Given the description of an element on the screen output the (x, y) to click on. 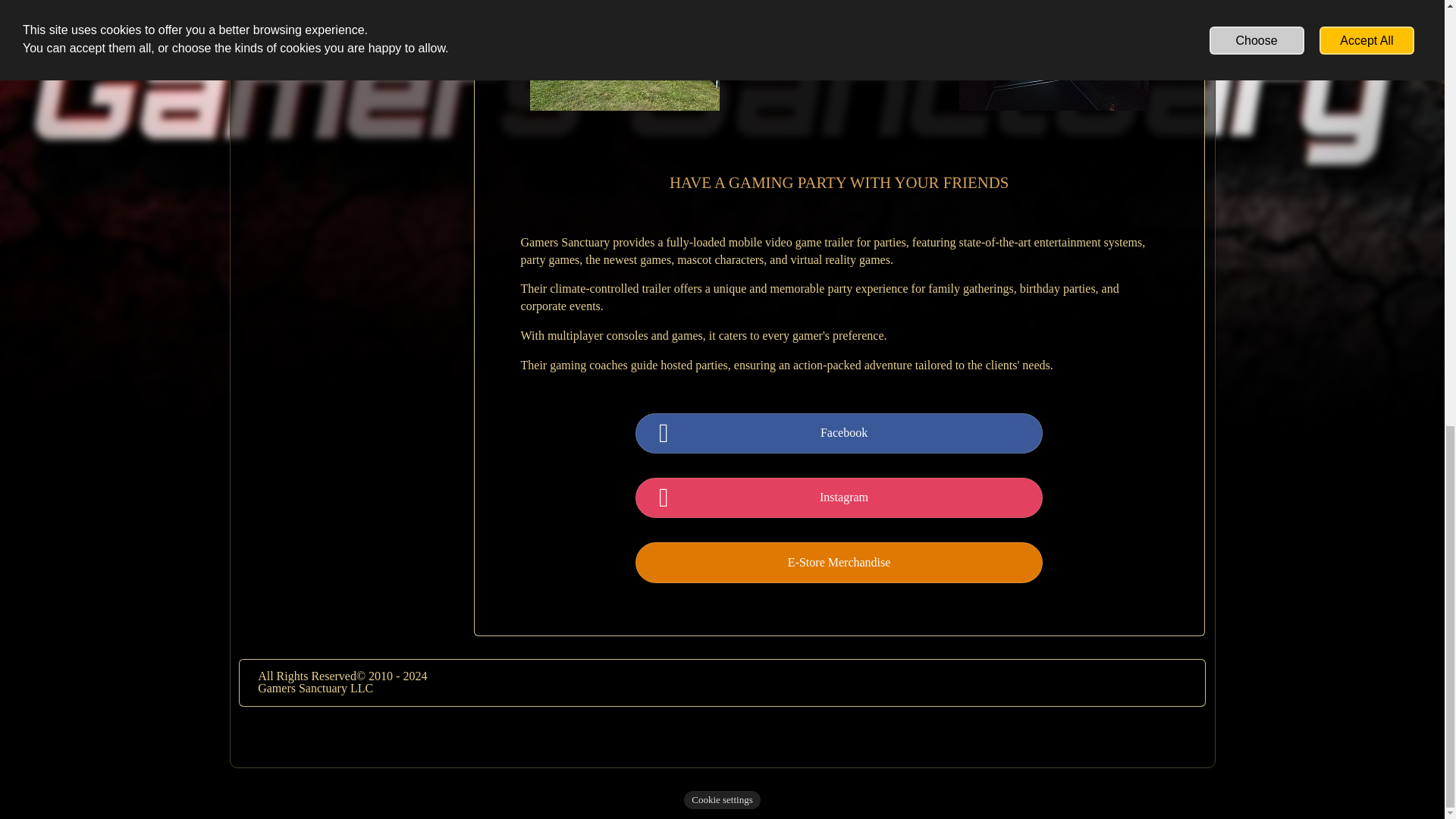
Facebook (844, 433)
E-Store Merchandise (838, 562)
Instagram (844, 497)
